Given the description of an element on the screen output the (x, y) to click on. 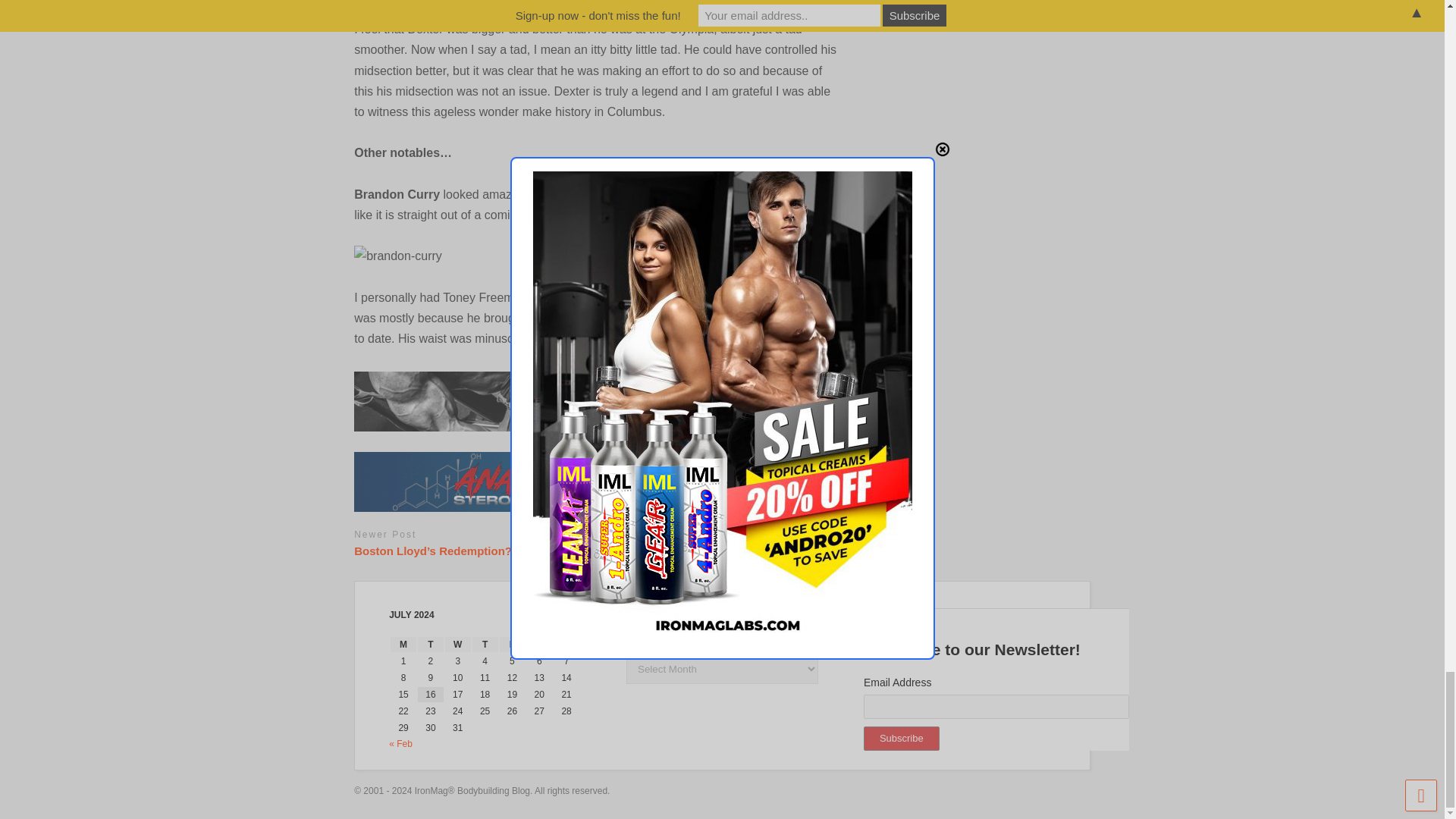
Subscribe (901, 738)
